Given the description of an element on the screen output the (x, y) to click on. 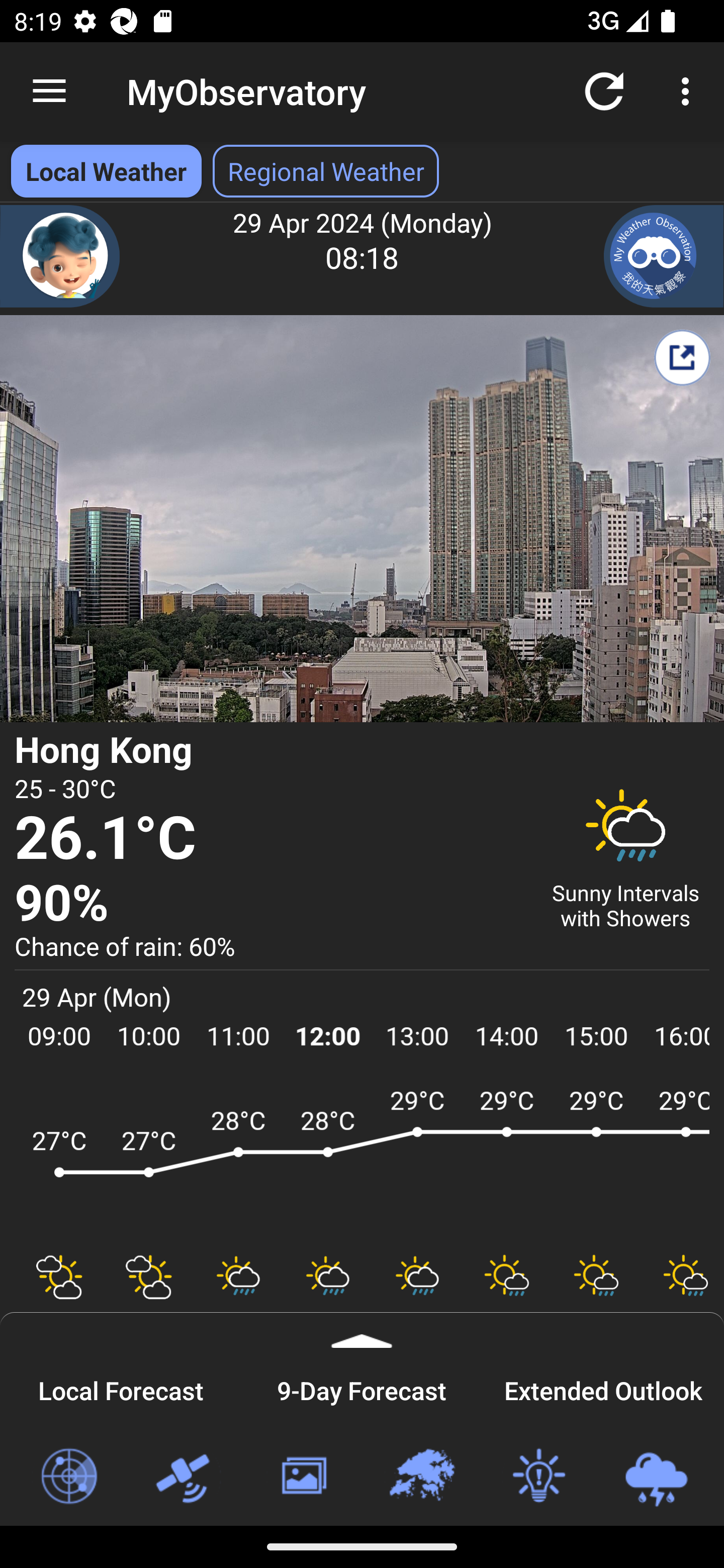
Navigate up (49, 91)
Refresh (604, 90)
More options (688, 90)
Local Weather Local Weather selected (105, 170)
Regional Weather Select Regional Weather (325, 170)
Chatbot (60, 256)
My Weather Observation (663, 256)
Share My Weather Report (681, 357)
26.1°C Temperature
26.1 degree Celsius (270, 839)
90% Relative Humidity
90 percent (270, 903)
ARWF (361, 1160)
Expand (362, 1330)
Local Forecast (120, 1387)
Extended Outlook (603, 1387)
Radar Images (68, 1476)
Satellite Images (185, 1476)
Weather Photos (302, 1476)
Regional Weather (420, 1476)
Weather Tips (537, 1476)
Loc-based Rain & Lightning Forecast (655, 1476)
